Given the description of an element on the screen output the (x, y) to click on. 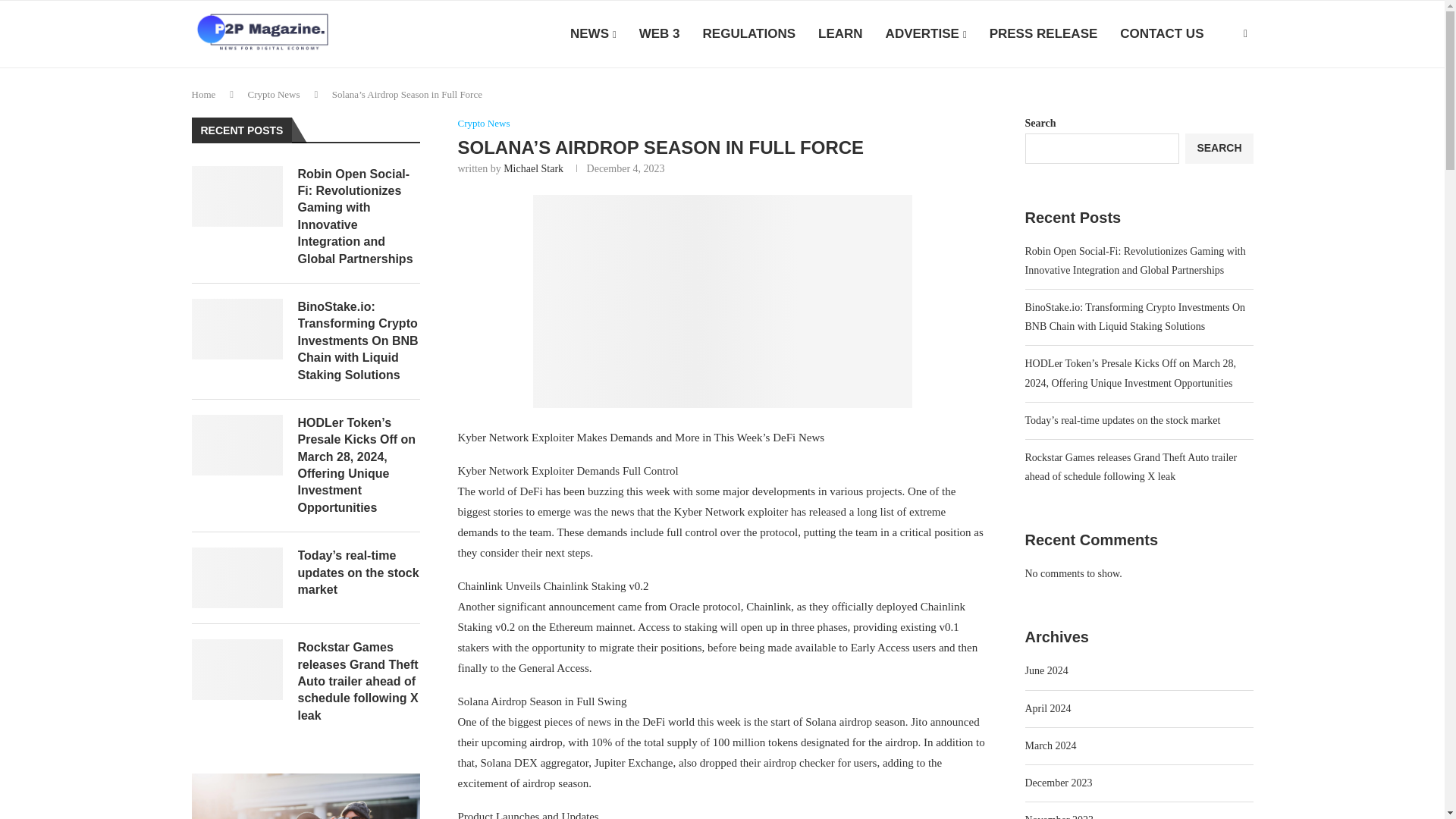
Michael Stark (533, 168)
REGULATIONS (748, 33)
CONTACT US (1161, 33)
Crypto News (484, 123)
Crypto News (273, 93)
PRESS RELEASE (1043, 33)
ADVERTISE (925, 33)
73af68430dcb0476c655e4788b860fed.png (721, 300)
Home (202, 93)
